Given the description of an element on the screen output the (x, y) to click on. 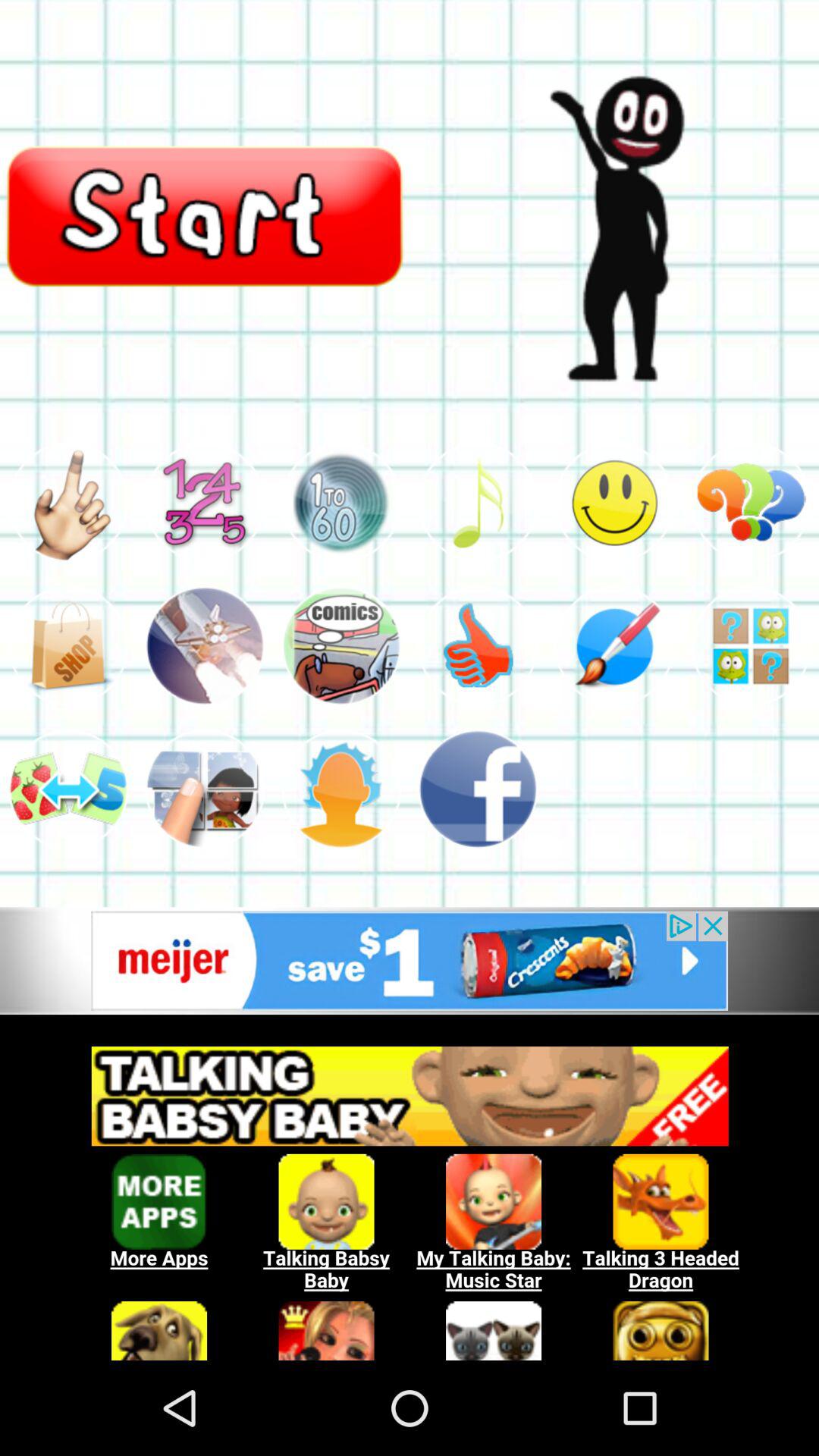
choose this (614, 502)
